Given the description of an element on the screen output the (x, y) to click on. 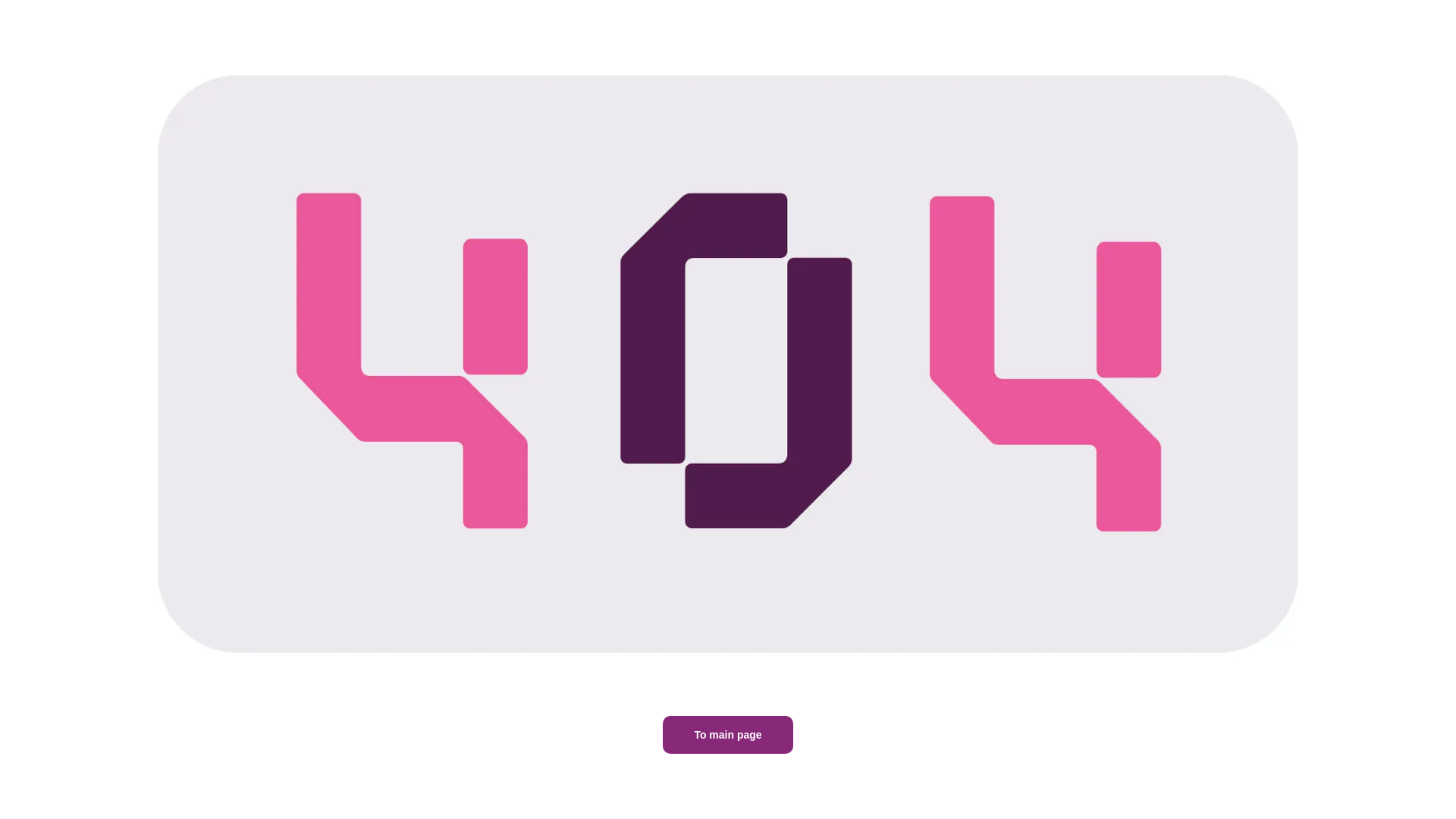
To main page (727, 734)
